Given the description of an element on the screen output the (x, y) to click on. 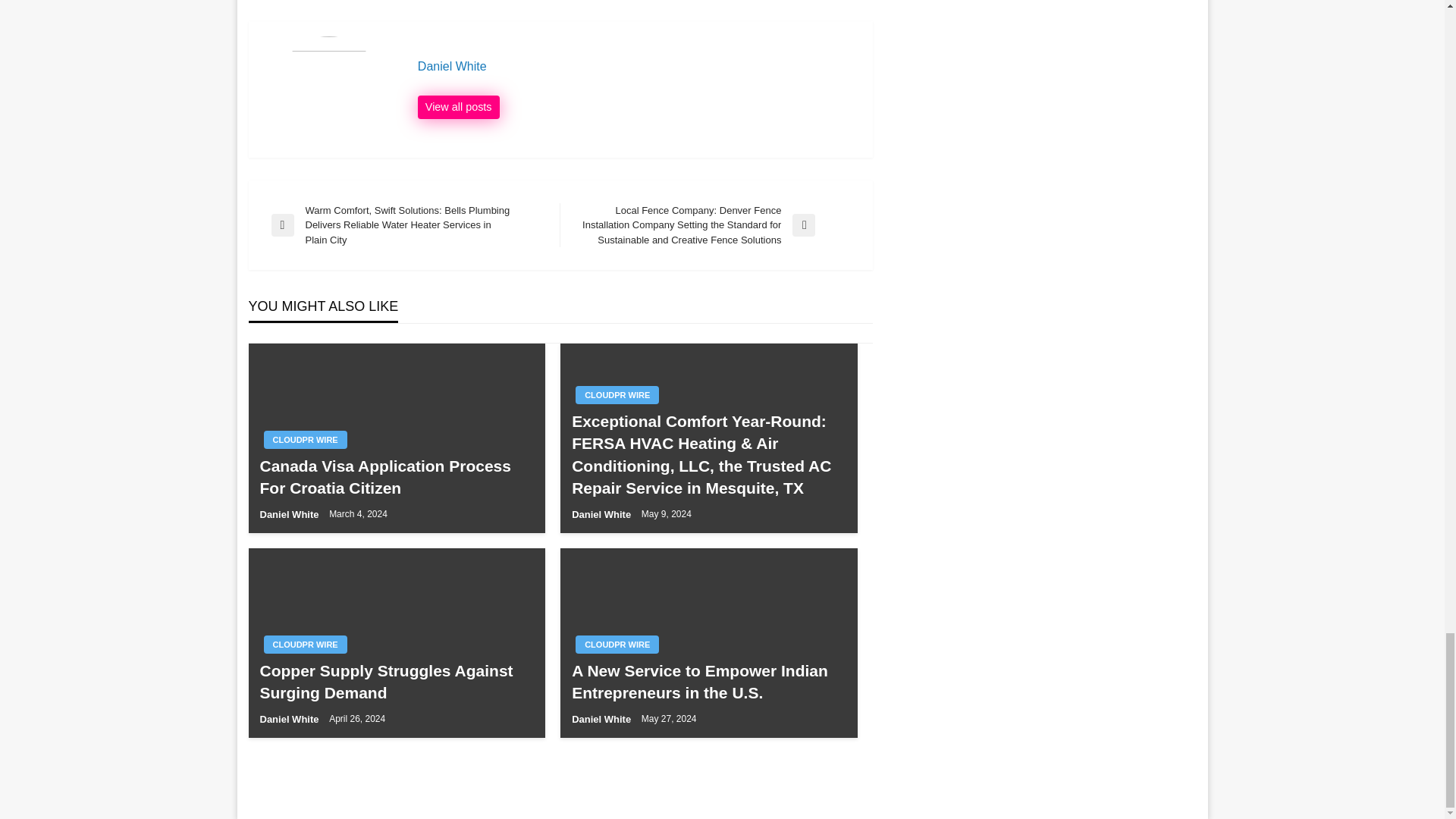
Canada Visa Application Process For Croatia Citizen (396, 477)
CLOUDPR WIRE (617, 394)
Daniel White (458, 107)
CLOUDPR WIRE (305, 439)
Daniel White (637, 66)
Daniel White (602, 514)
CLOUDPR WIRE (305, 644)
Daniel White (290, 514)
Daniel White (637, 66)
View all posts (458, 107)
